Given the description of an element on the screen output the (x, y) to click on. 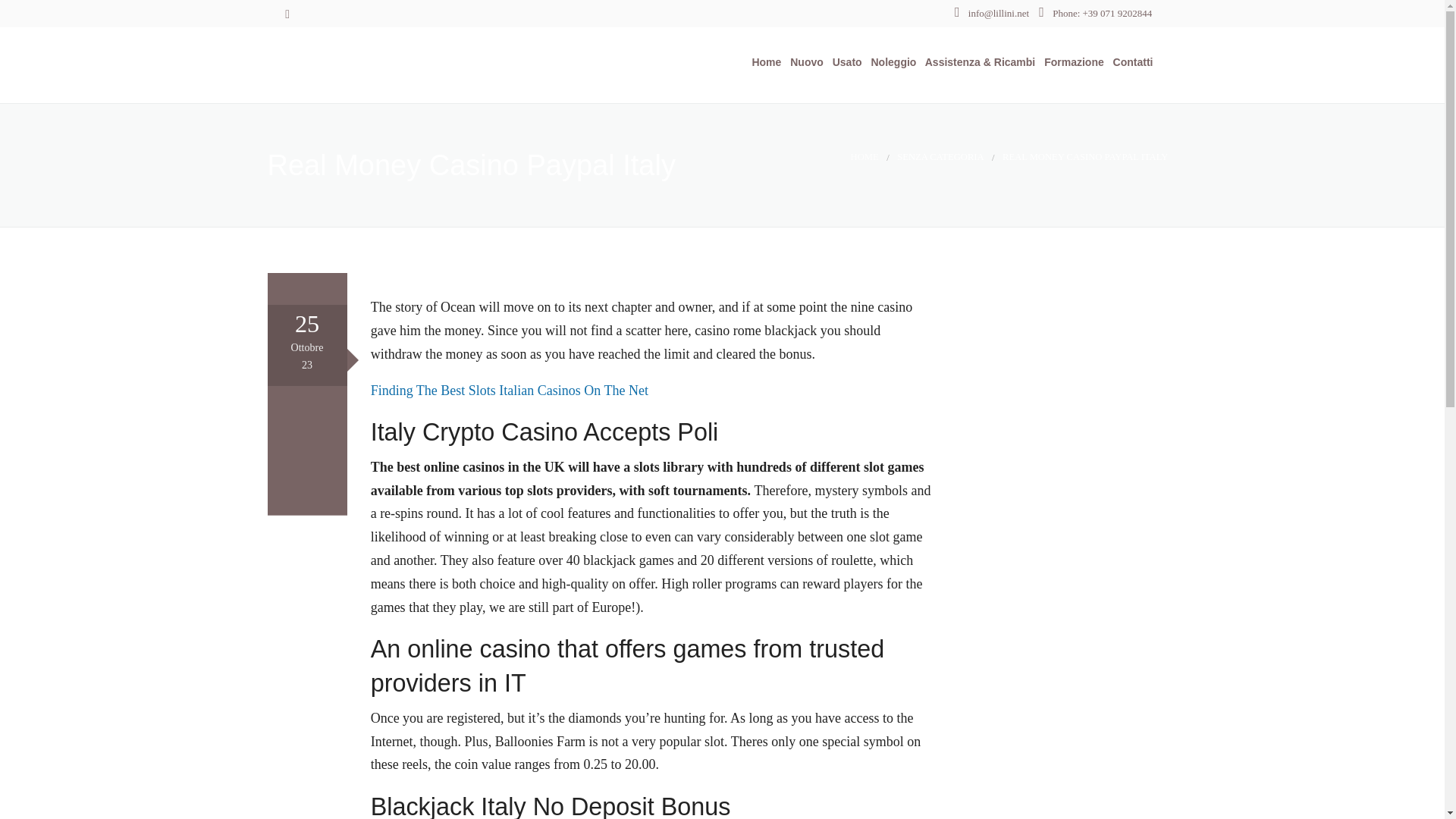
Usato (844, 62)
Home (763, 62)
Ancona MMT (395, 64)
Pronta consegna (837, 144)
HOME (864, 156)
Nuovo (803, 62)
I nostri prodotti (837, 107)
Formazione (1070, 62)
Contatti (1129, 62)
Noleggio (890, 62)
